Given the description of an element on the screen output the (x, y) to click on. 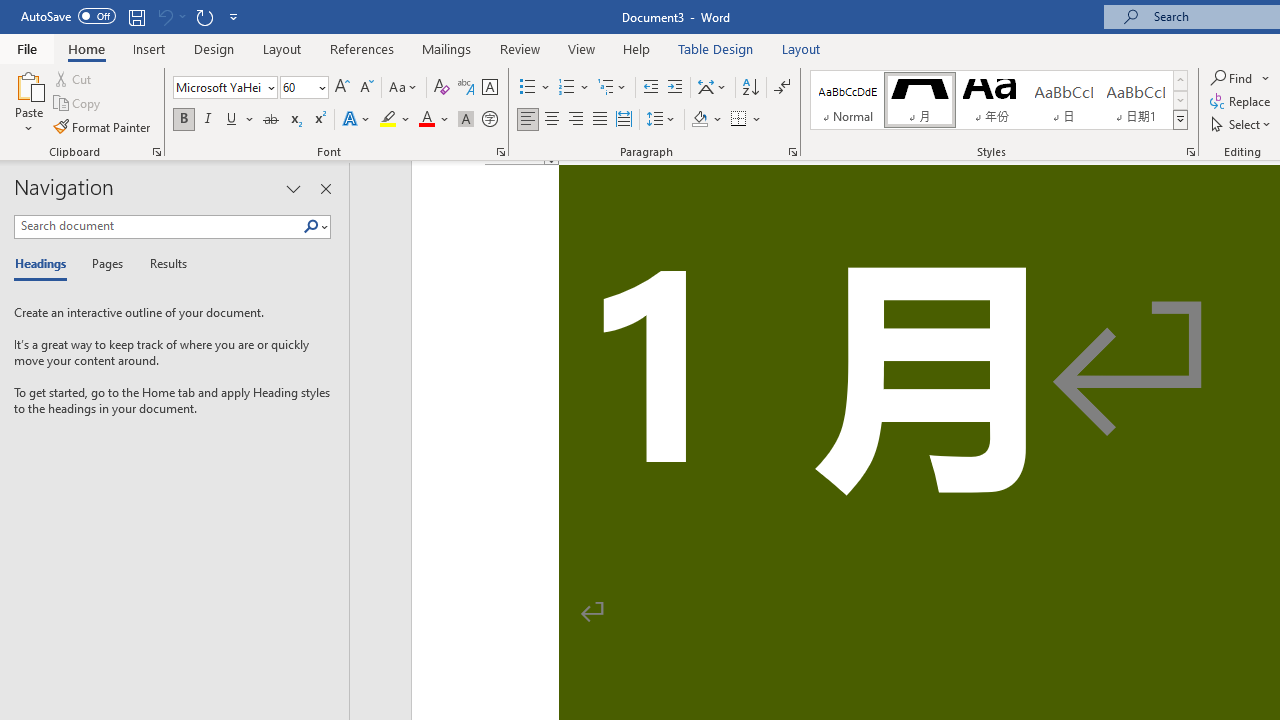
AutomationID: QuickStylesGallery (999, 99)
Can't Undo (164, 15)
